Given the description of an element on the screen output the (x, y) to click on. 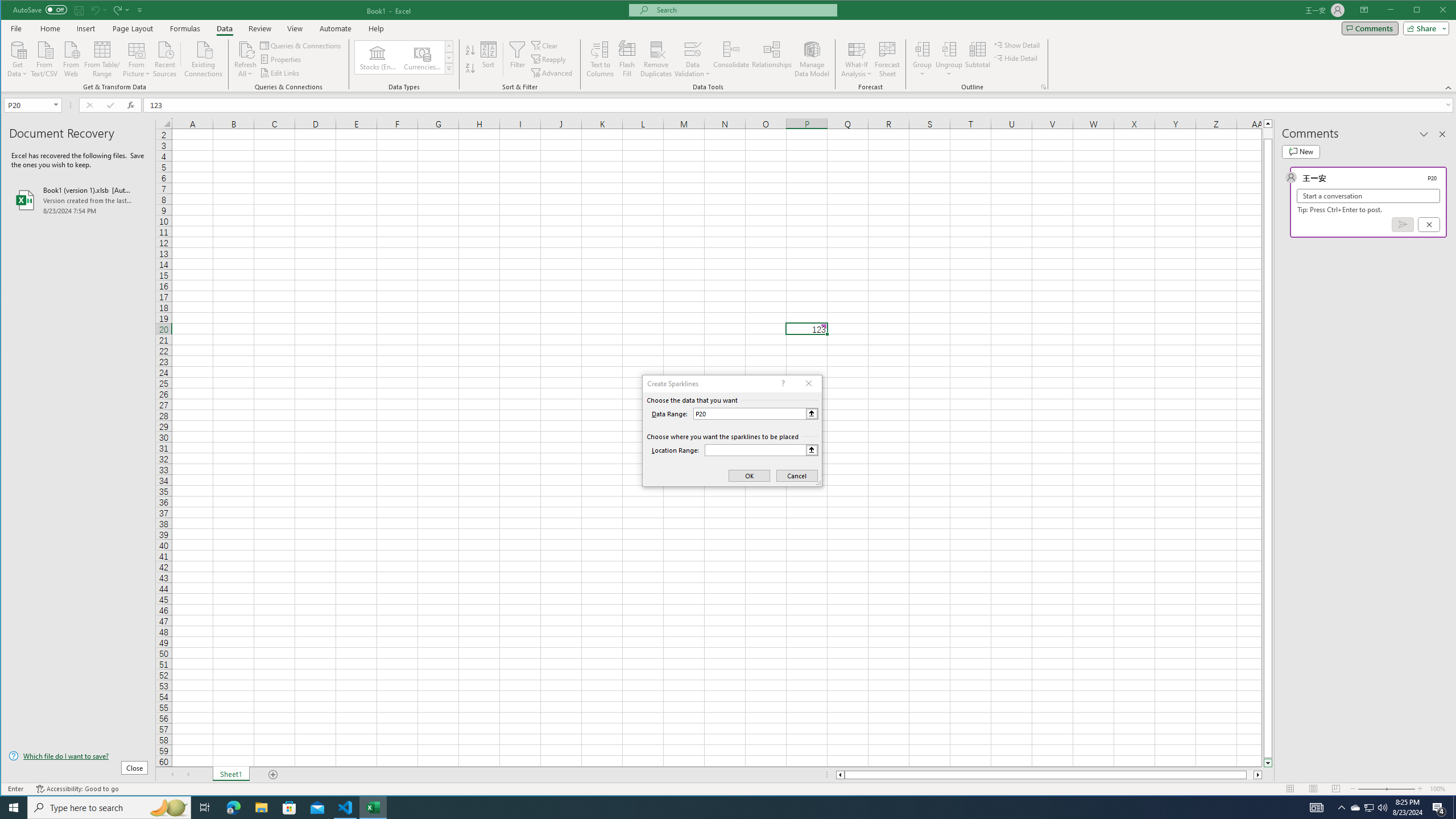
Clear (545, 45)
Cancel (1428, 224)
Get Data (17, 57)
Edit Links (279, 72)
Group and Outline Settings (1043, 86)
New comment (1300, 151)
